Given the description of an element on the screen output the (x, y) to click on. 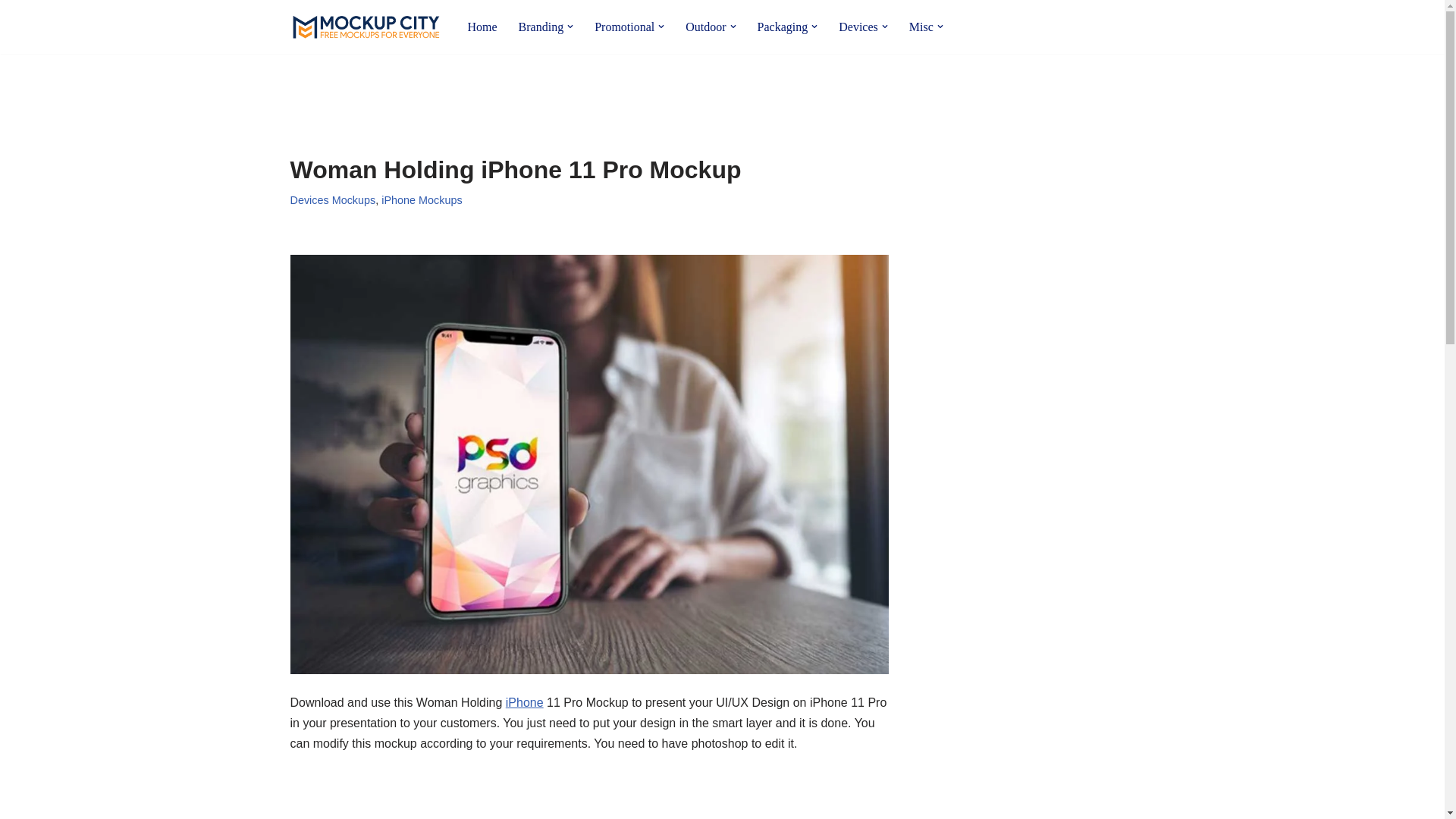
Advertisement (1044, 326)
Advertisement (588, 797)
Skip to content (11, 31)
Advertisement (565, 93)
Devices (857, 26)
Branding (541, 26)
Outdoor (705, 26)
Home (481, 26)
Promotional (623, 26)
Packaging (782, 26)
